Given the description of an element on the screen output the (x, y) to click on. 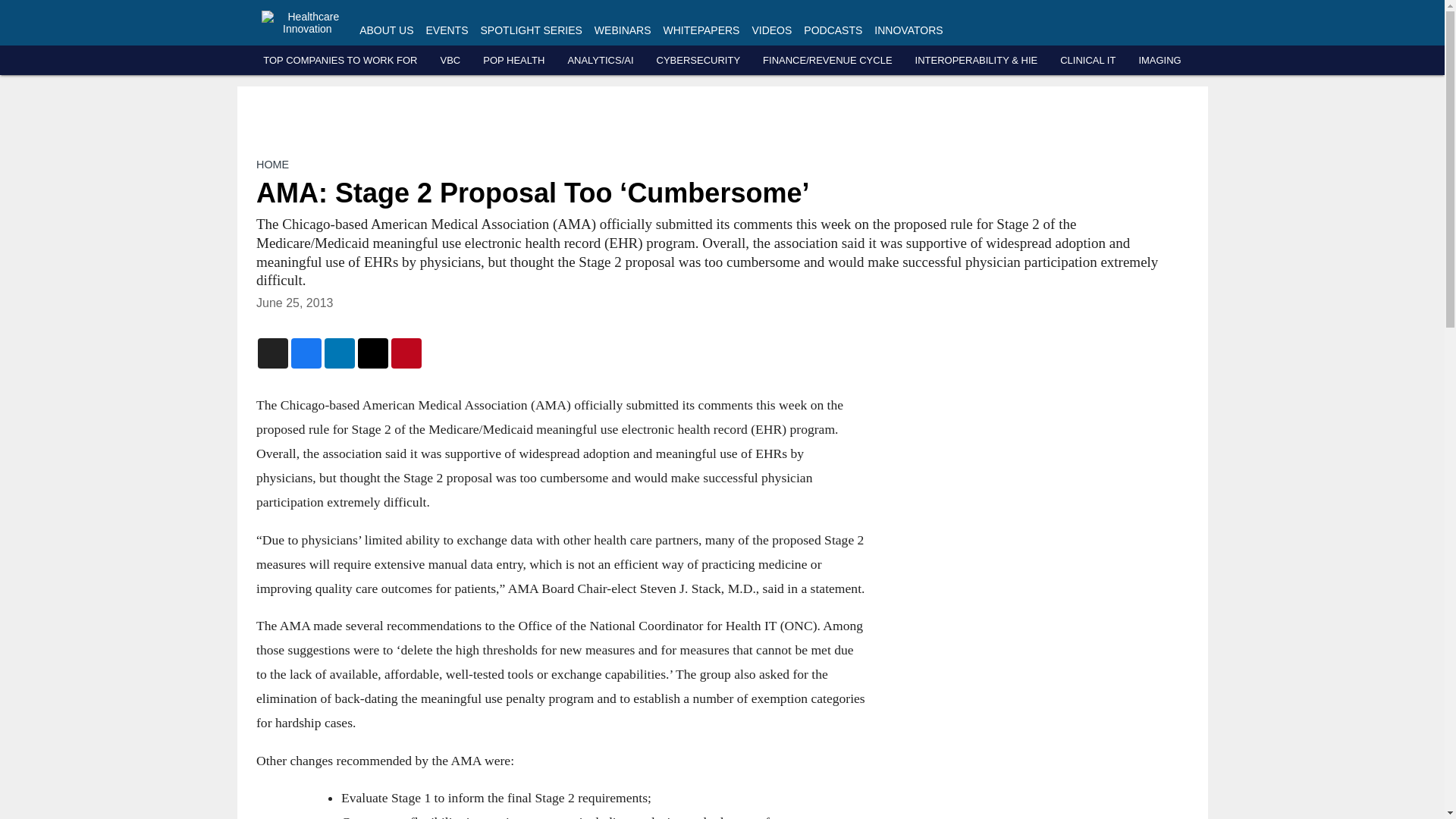
CLINICAL IT (1087, 60)
IMAGING (1159, 60)
WHITEPAPERS (701, 30)
WEBINARS (622, 30)
CYBERSECURITY (698, 60)
INNOVATORS (908, 30)
VBC (449, 60)
VIDEOS (771, 30)
EVENTS (447, 30)
POP HEALTH (513, 60)
